Given the description of an element on the screen output the (x, y) to click on. 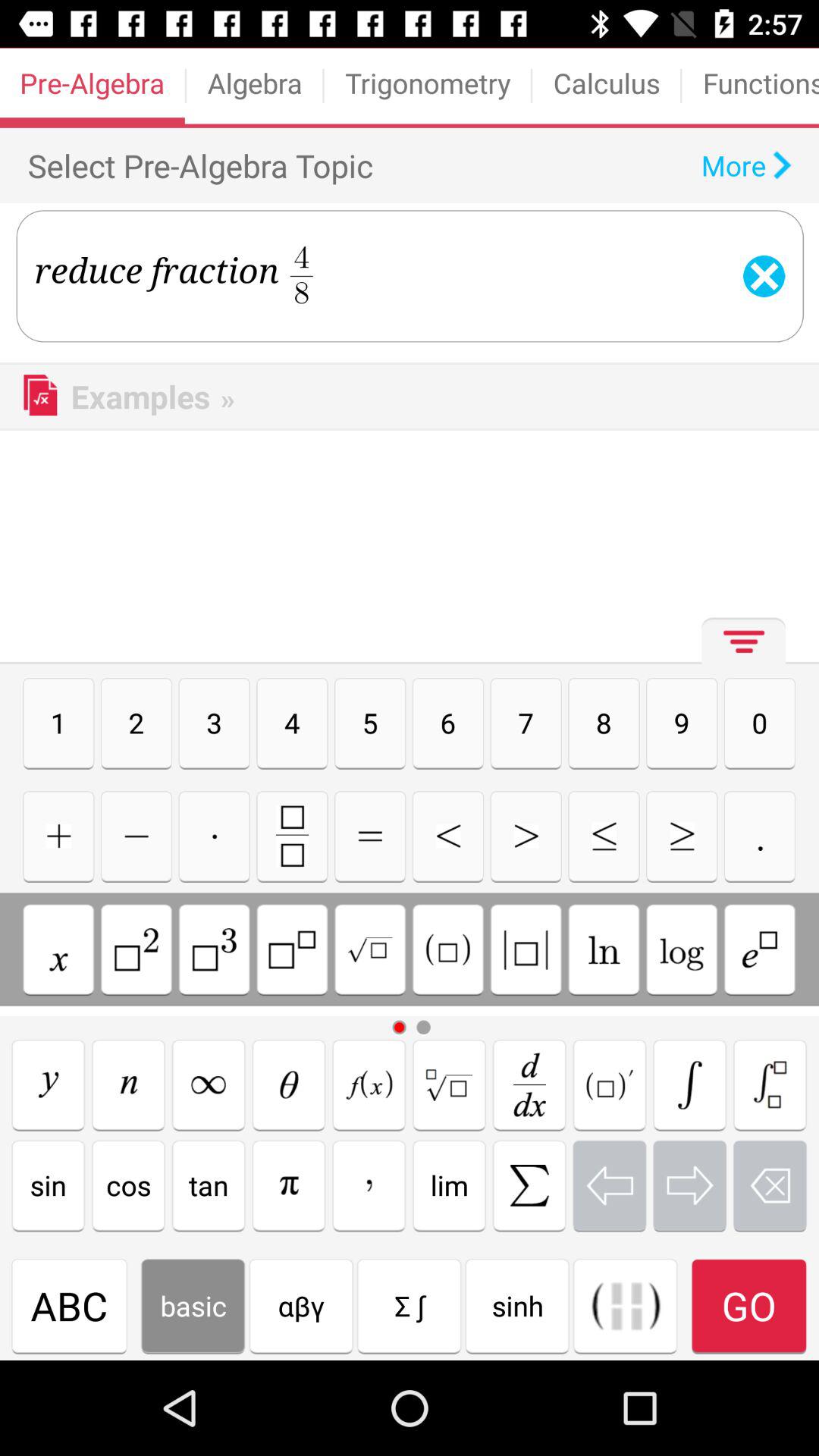
symbol (58, 835)
